Given the description of an element on the screen output the (x, y) to click on. 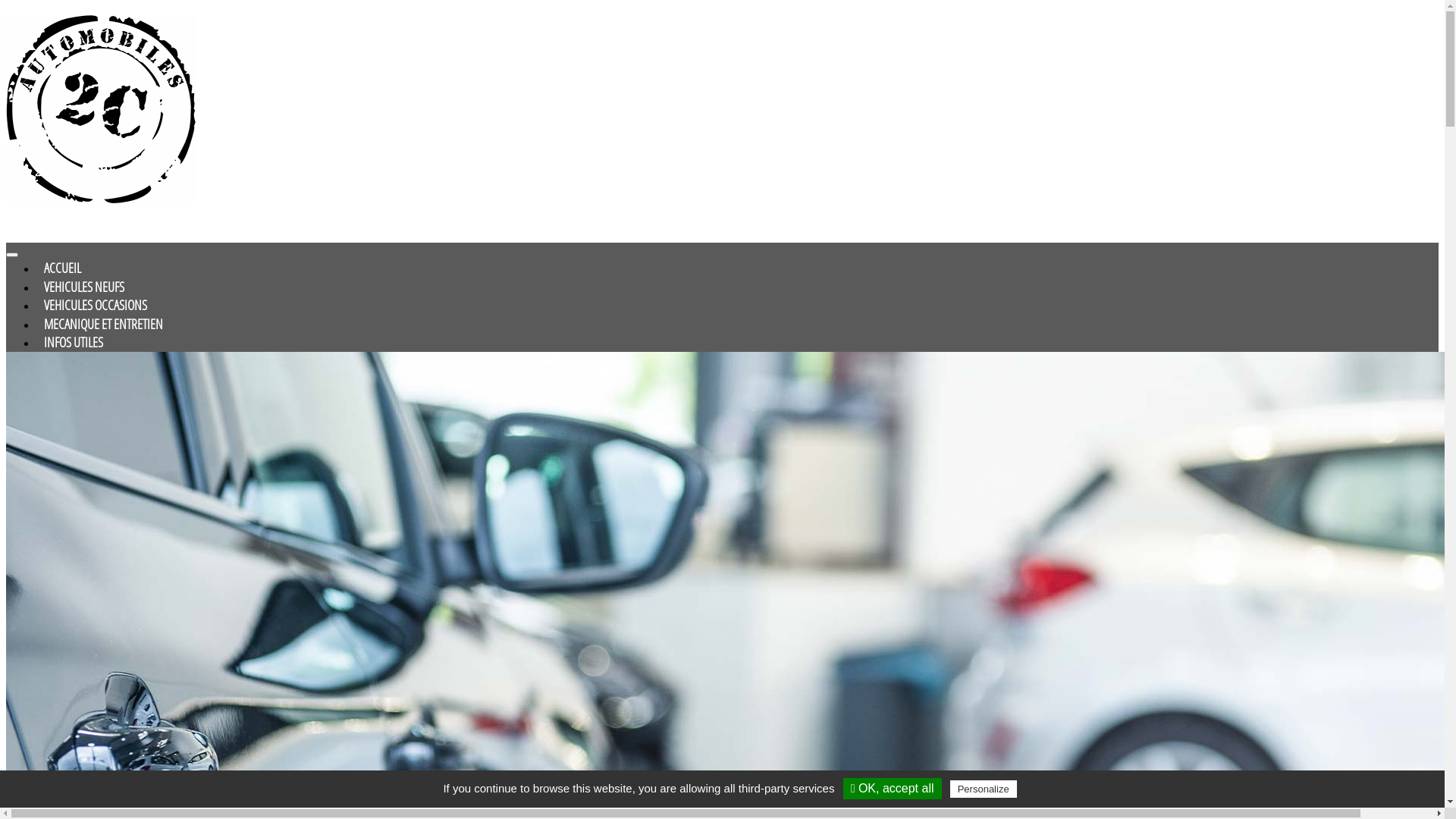
ACCUEIL Element type: text (62, 267)
VEHICULES NEUFS Element type: text (83, 286)
INFOS UTILES Element type: text (73, 341)
VEHICULES OCCASIONS Element type: text (95, 304)
Personalize Element type: text (983, 788)
MECANIQUE ET ENTRETIEN Element type: text (103, 323)
